Given the description of an element on the screen output the (x, y) to click on. 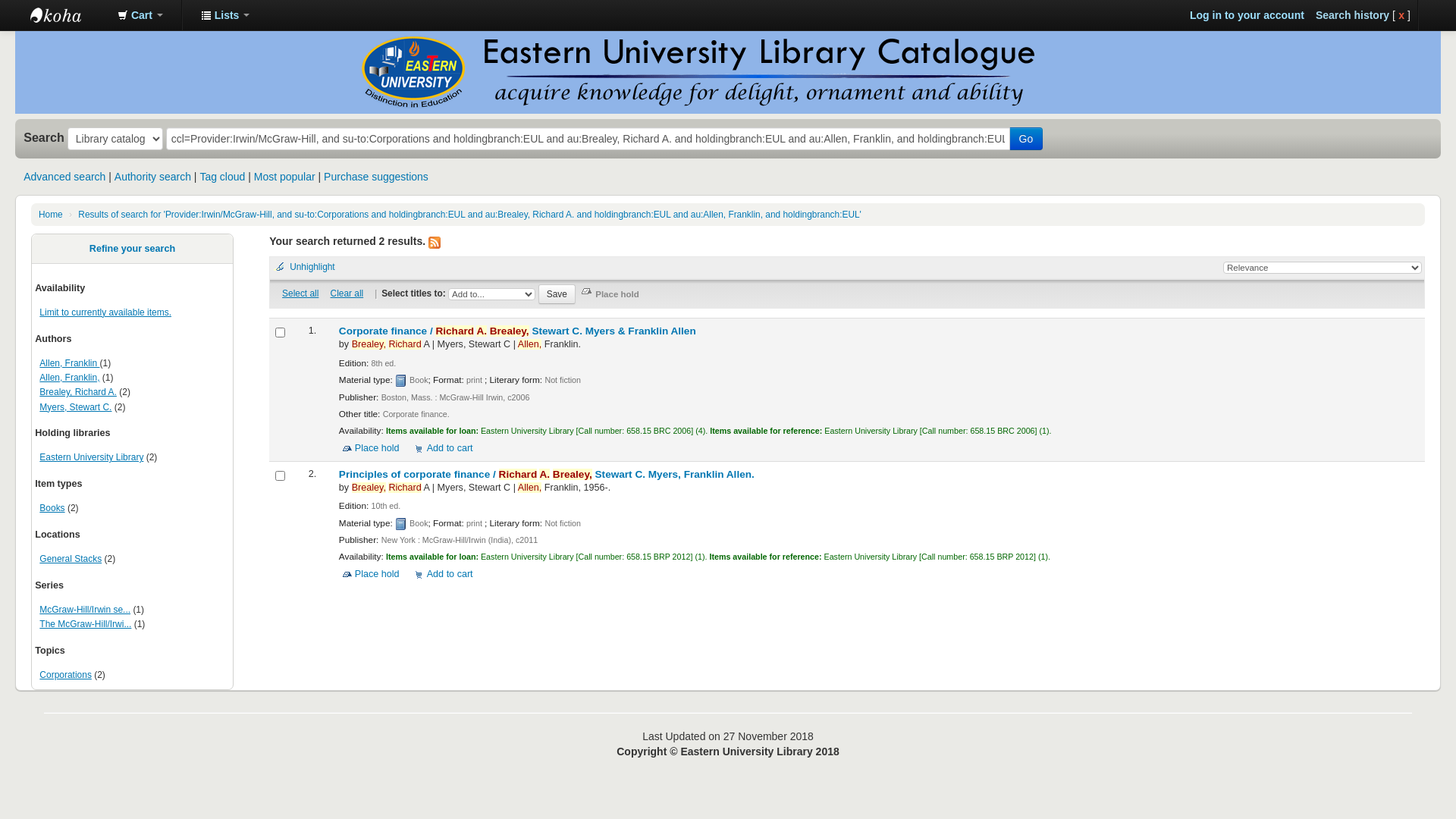
Place hold Element type: text (368, 573)
Allen, Franklin Element type: text (69, 362)
Search history Element type: text (1352, 15)
Go Element type: text (1026, 138)
Tag cloud Element type: text (221, 176)
Place hold Element type: text (610, 293)
book Element type: hover (401, 523)
Log in to your account Element type: text (1246, 15)
McGraw-Hill/Irwin se... Element type: text (84, 609)
Refine your search Element type: text (131, 248)
General Stacks Element type: text (70, 558)
x Element type: text (1401, 15)
Corporations Element type: text (65, 674)
The McGraw-Hill/Irwi... Element type: text (85, 623)
Purchase suggestions Element type: text (375, 176)
Cart Element type: text (140, 15)
Most popular Element type: text (284, 176)
Clear all Element type: text (347, 293)
Type search term Element type: hover (588, 138)
book Element type: hover (401, 380)
Add to cart Element type: text (442, 447)
Place hold Element type: text (368, 447)
Unhighlight Element type: text (307, 266)
Add to cart Element type: text (442, 573)
Eastern University Library Element type: text (91, 456)
Subscribe to this search Element type: hover (434, 242)
Home Element type: text (50, 214)
Eastern University Library Element type: text (68, 15)
Select all Element type: text (300, 293)
Myers, Stewart C. Element type: text (75, 406)
Limit to currently available items. Element type: text (105, 312)
Brealey, Richard A. Element type: text (77, 391)
Lists Element type: text (224, 15)
Allen, Franklin, Element type: text (69, 377)
Books Element type: text (51, 507)
Save Element type: text (556, 294)
Authority search Element type: text (152, 176)
Advanced search Element type: text (64, 176)
Go Element type: text (14, 9)
